Given the description of an element on the screen output the (x, y) to click on. 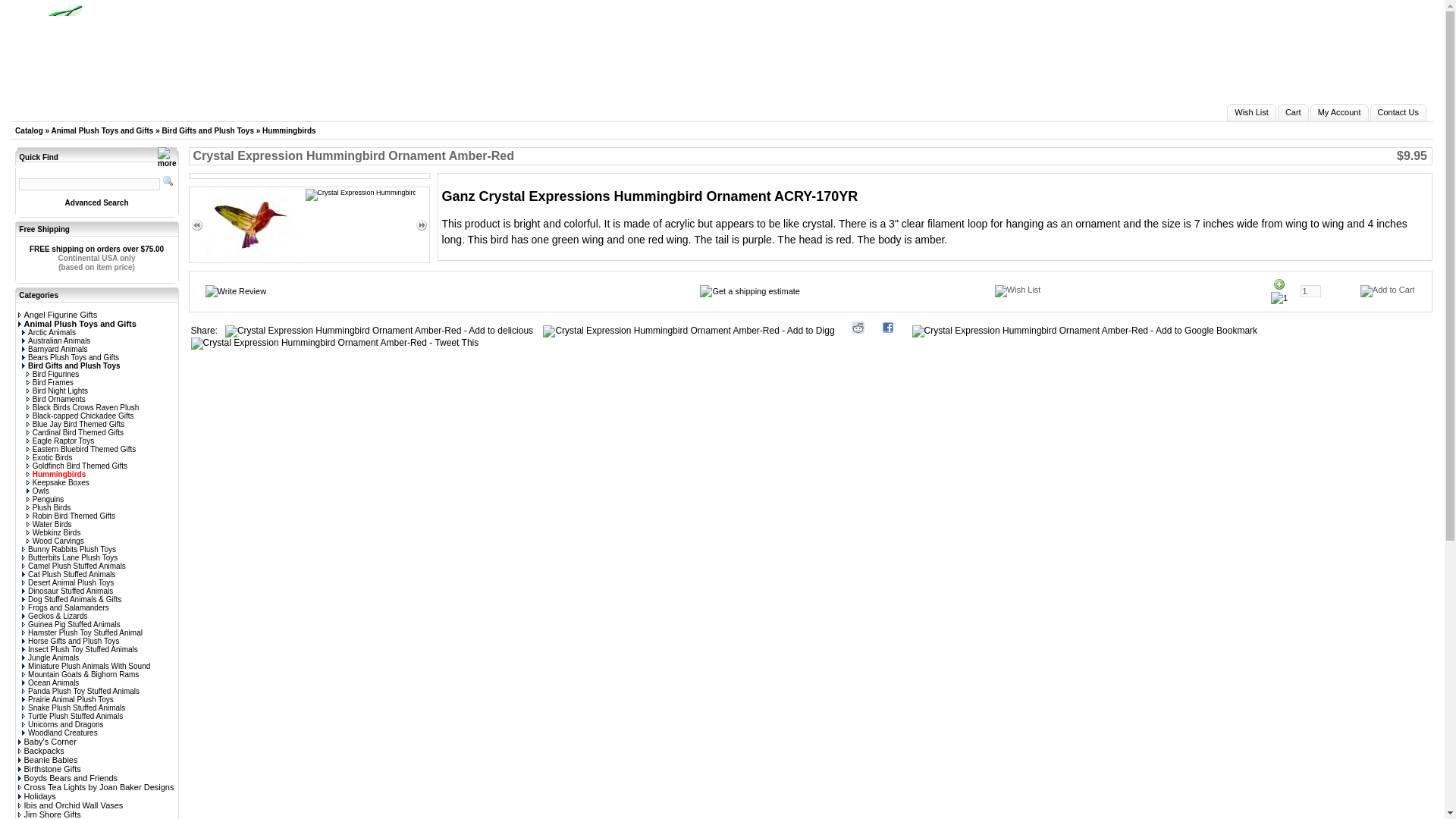
Bird Ornaments (55, 398)
Advanced Search (97, 203)
Arctic Animals (48, 332)
Angel Figurine Gifts (57, 314)
Barnyard Animals (54, 348)
1 (1310, 291)
Owls (37, 490)
Wish List (1251, 112)
